Given the description of an element on the screen output the (x, y) to click on. 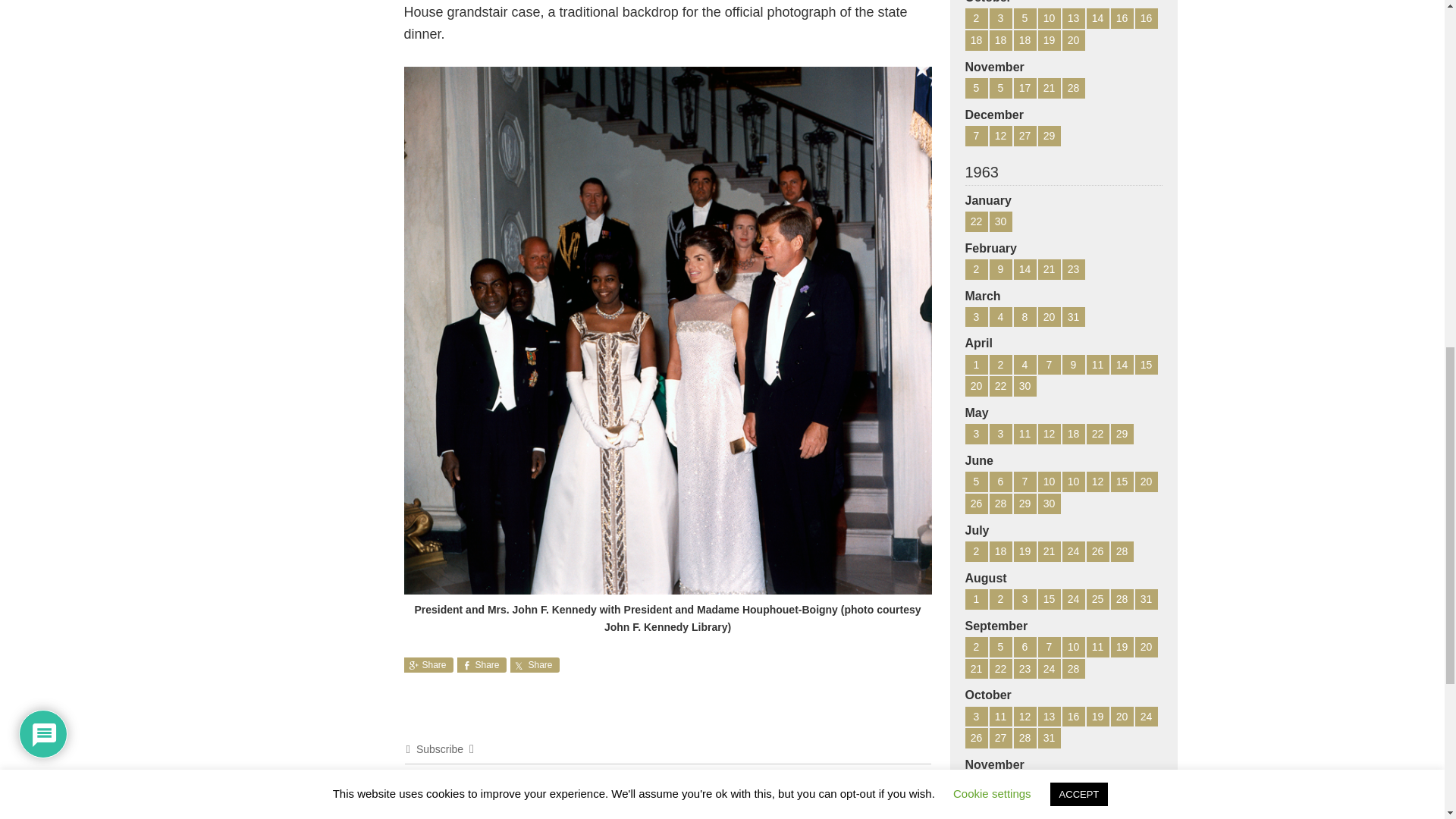
Share (481, 664)
Share (534, 664)
Share (427, 664)
